Given the description of an element on the screen output the (x, y) to click on. 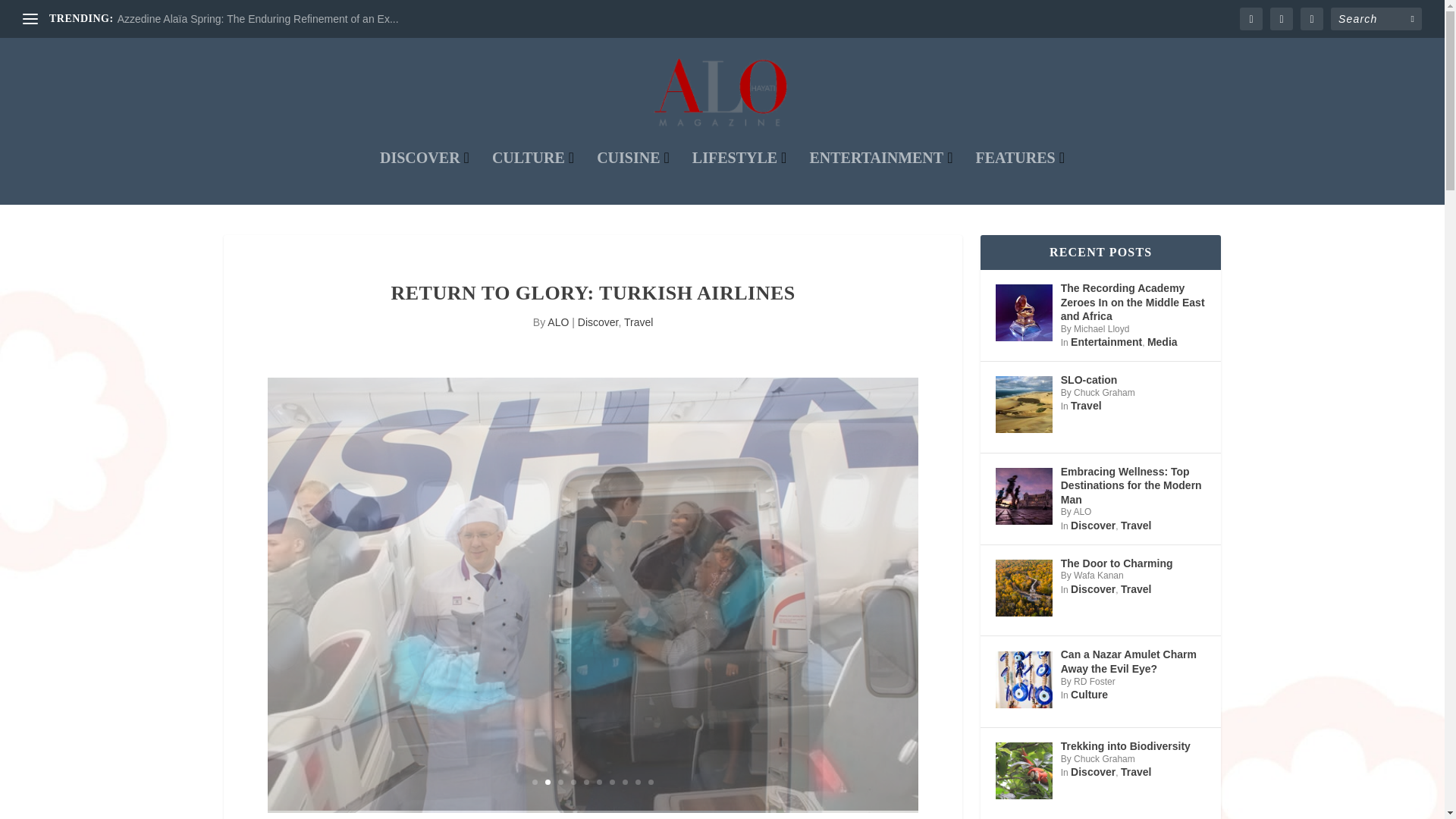
Search for: (1376, 18)
CUISINE (632, 177)
DISCOVER (424, 177)
CULTURE (532, 177)
